Given the description of an element on the screen output the (x, y) to click on. 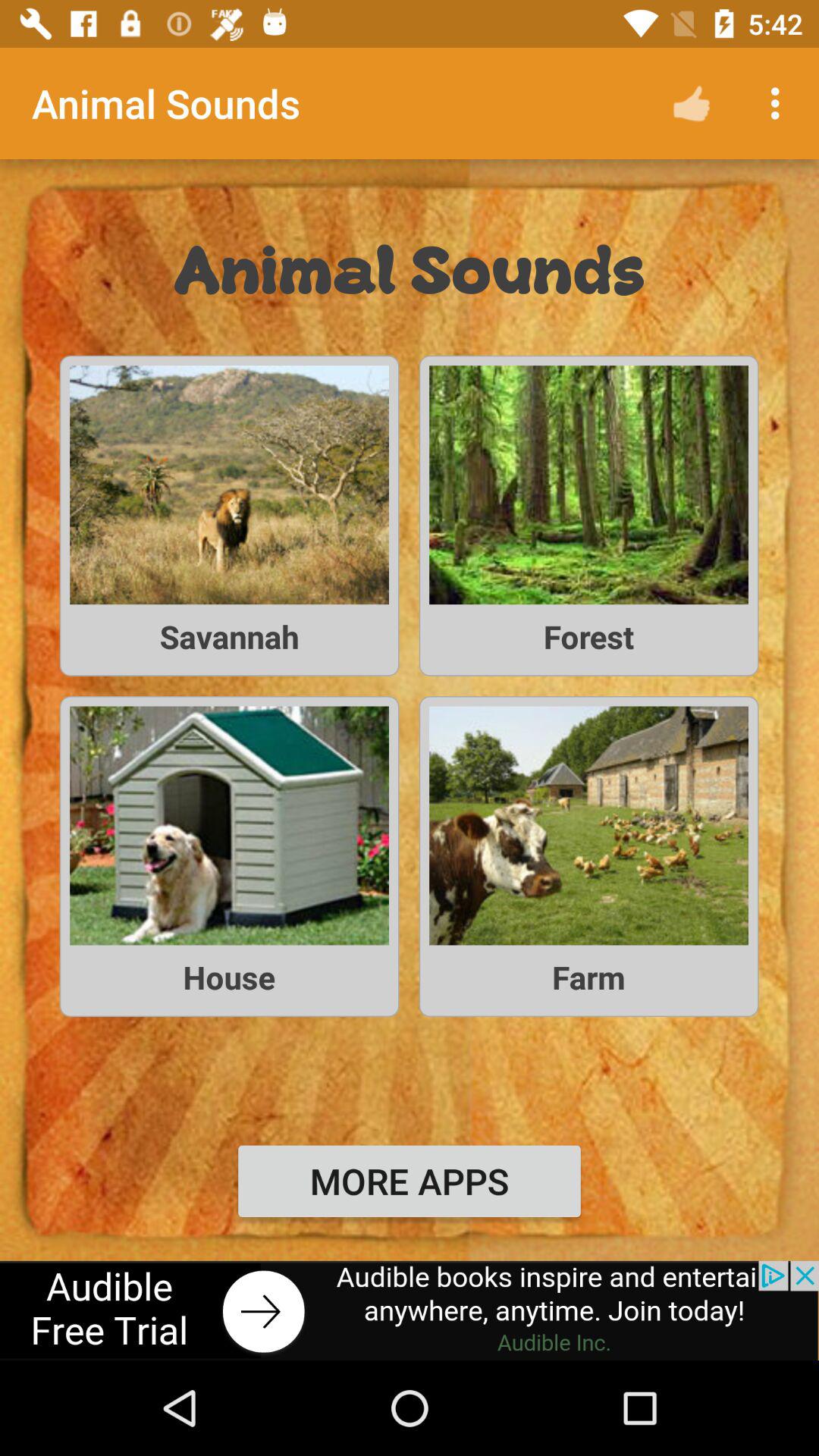
advertising (409, 1310)
